Given the description of an element on the screen output the (x, y) to click on. 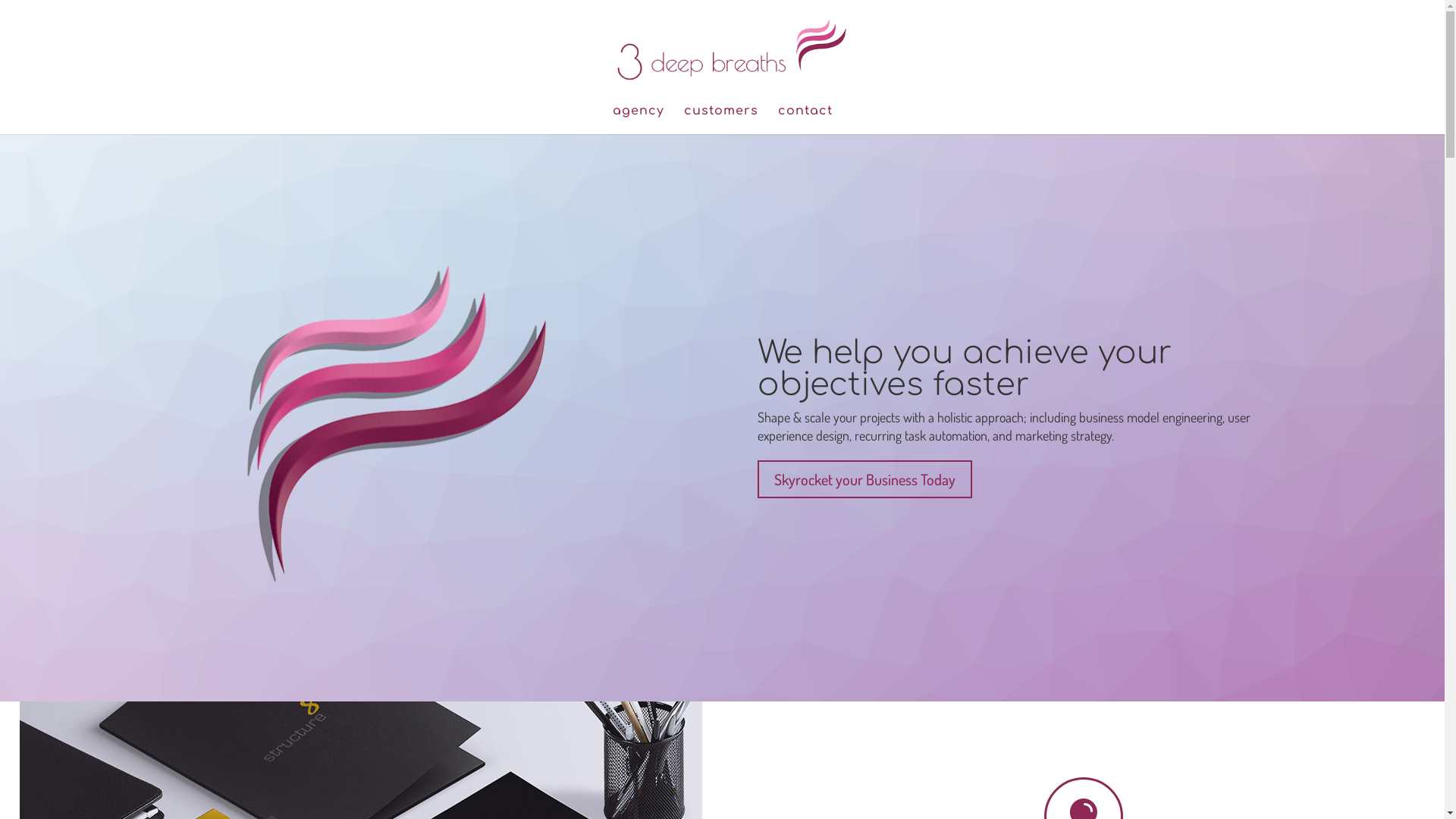
agency Element type: text (638, 119)
customers Element type: text (721, 119)
contact Element type: text (805, 119)
Skyrocket your Business Today Element type: text (864, 479)
We help you achieve your objectives faster Element type: text (964, 368)
